Given the description of an element on the screen output the (x, y) to click on. 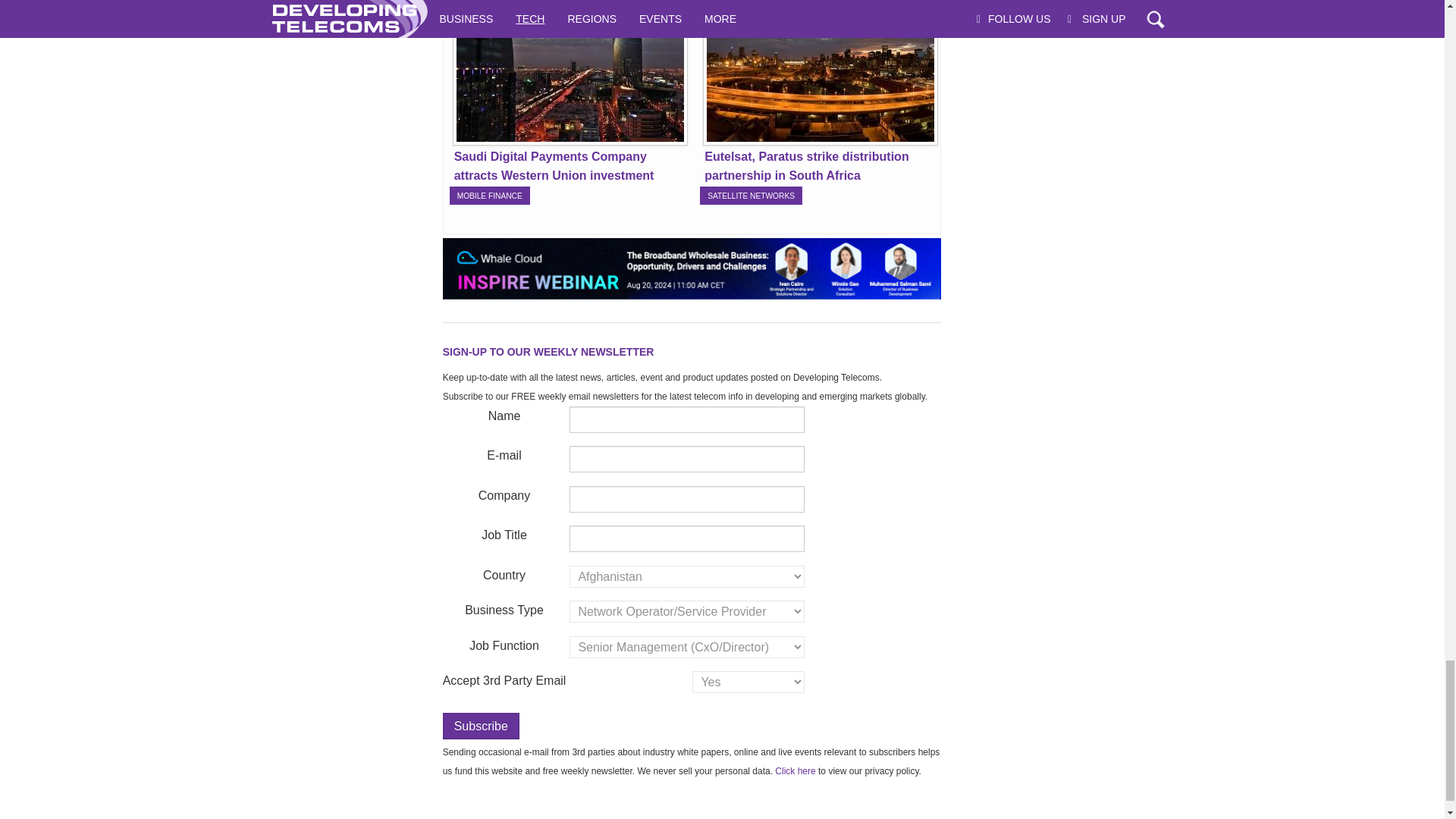
Subscribe (480, 725)
